Given the description of an element on the screen output the (x, y) to click on. 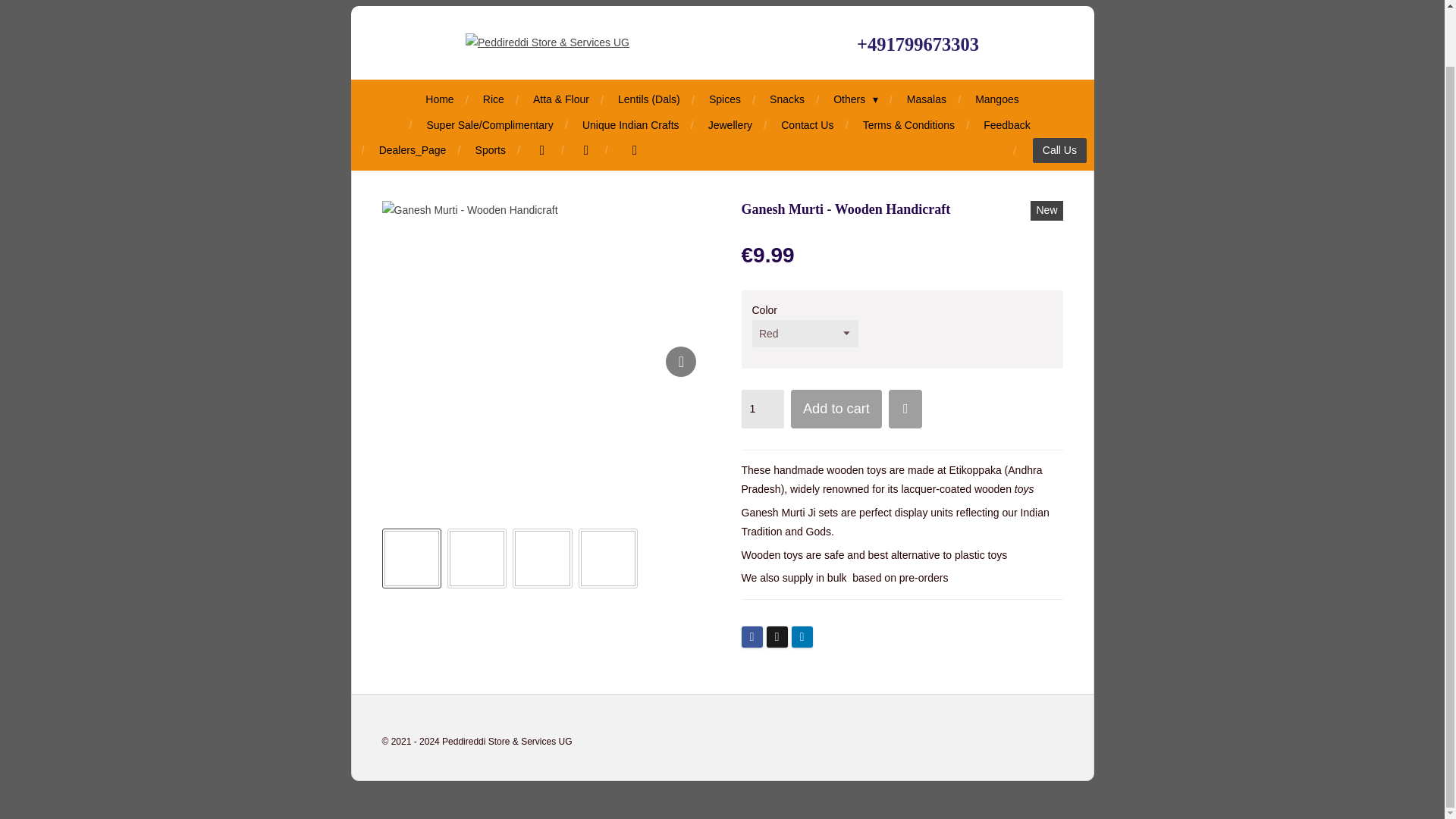
Snacks (786, 99)
Mangoes (996, 99)
Spices (724, 99)
Search (586, 150)
Unique Indian Crafts (630, 125)
Add to cart (836, 408)
Account (541, 150)
Cart (632, 150)
Rice (493, 99)
Home (438, 99)
